Given the description of an element on the screen output the (x, y) to click on. 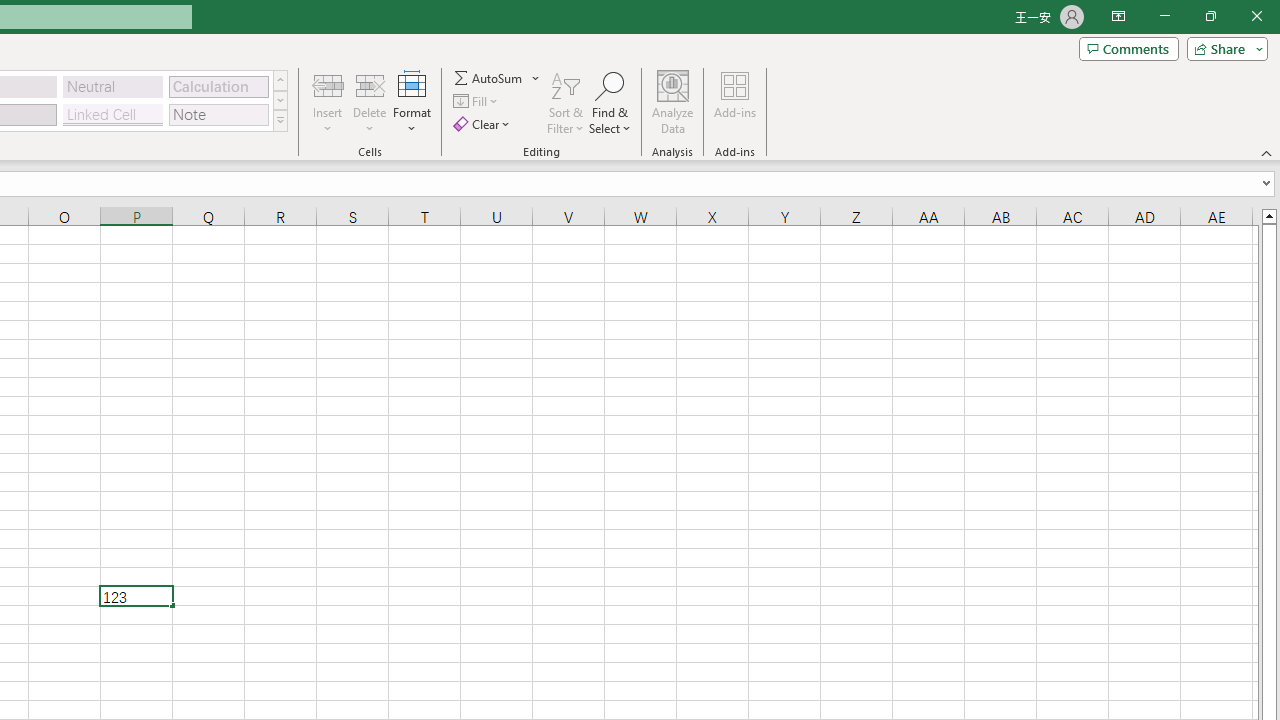
Sort & Filter (566, 102)
Class: NetUIImage (280, 120)
